Given the description of an element on the screen output the (x, y) to click on. 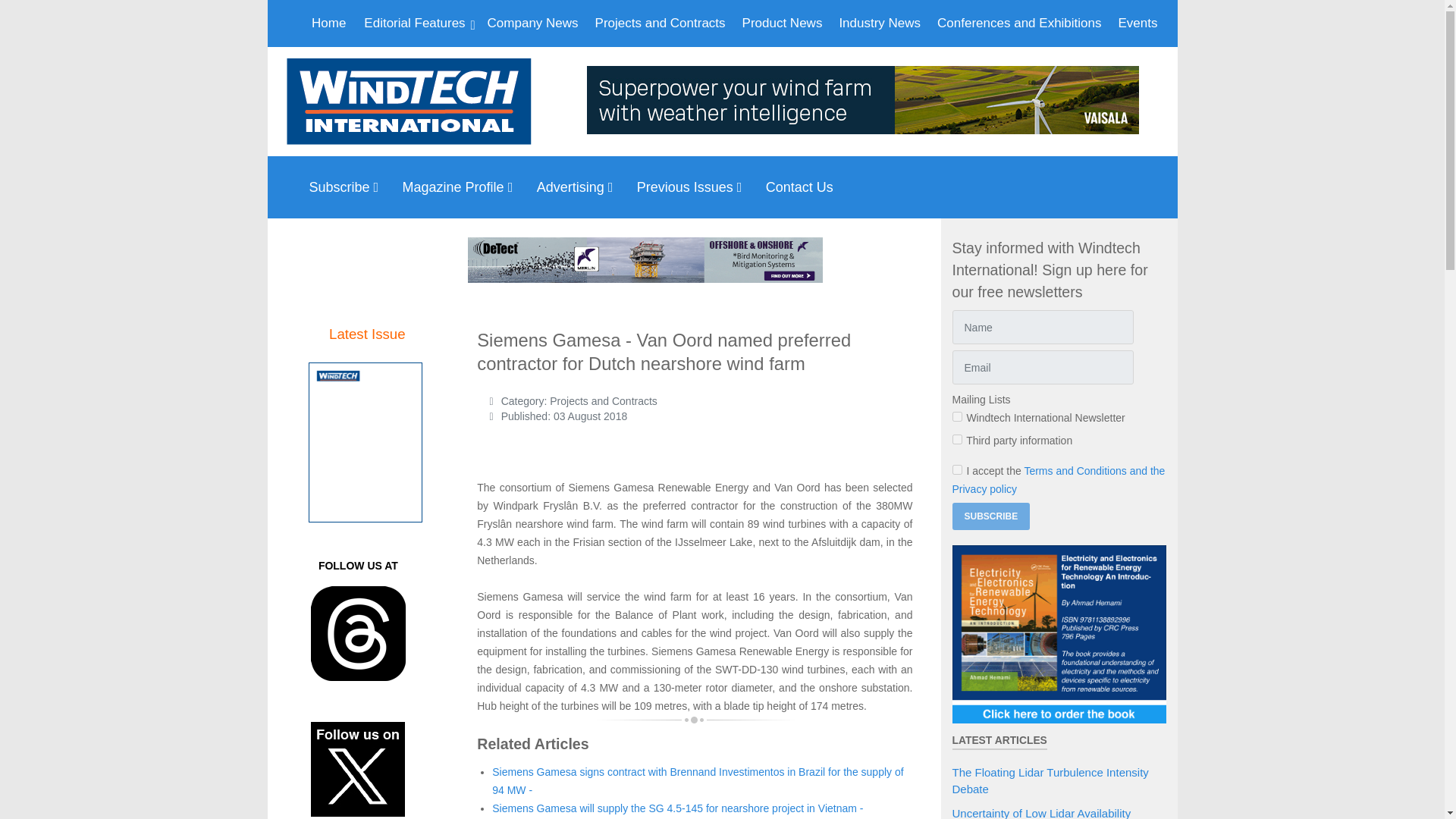
Events (1138, 22)
Advertising (578, 186)
Industry News (879, 22)
Projects and Contracts (660, 22)
Subscribe (347, 186)
Subscribe (991, 515)
Product News (782, 22)
on (957, 470)
Company News (533, 22)
Editorial Features (416, 22)
